Given the description of an element on the screen output the (x, y) to click on. 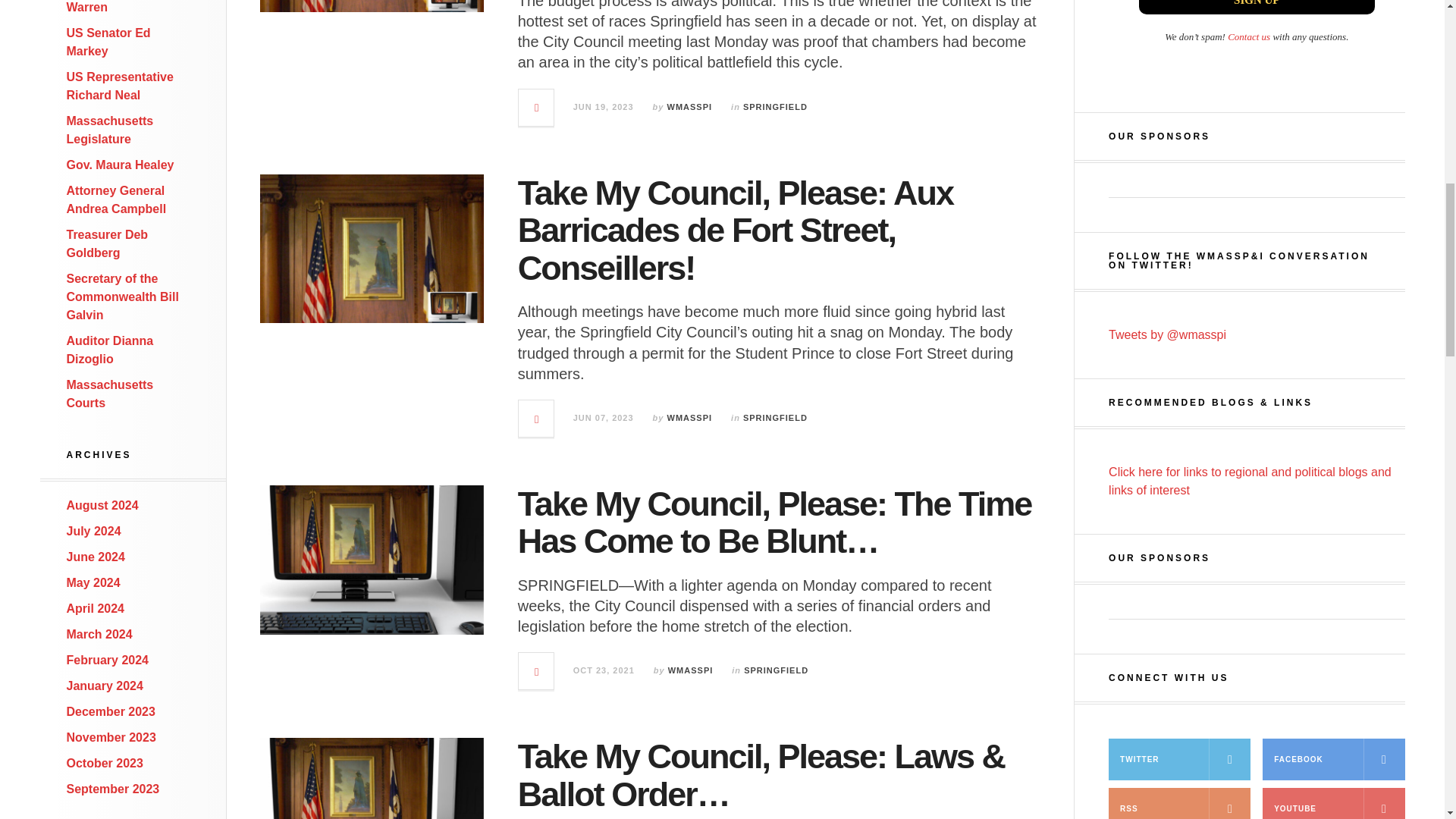
Read More... (536, 107)
Treasurer Deb Goldberg (107, 243)
Posts by wmasspi (689, 106)
View all posts in Springfield (775, 106)
Attorney General Andrea Campbell (116, 199)
July 2024 (93, 530)
Gov. Maura Healey (120, 164)
Massachusetts Legislature (110, 129)
Secretary of the Commonwealth Bill Galvin (122, 296)
Auditor Dianna Dizoglio (110, 349)
Massachusetts Courts (110, 393)
Sign up (1256, 7)
August 2024 (102, 504)
US Representative Richard Neal (119, 85)
US Senator Elizabeth Warren (127, 6)
